Given the description of an element on the screen output the (x, y) to click on. 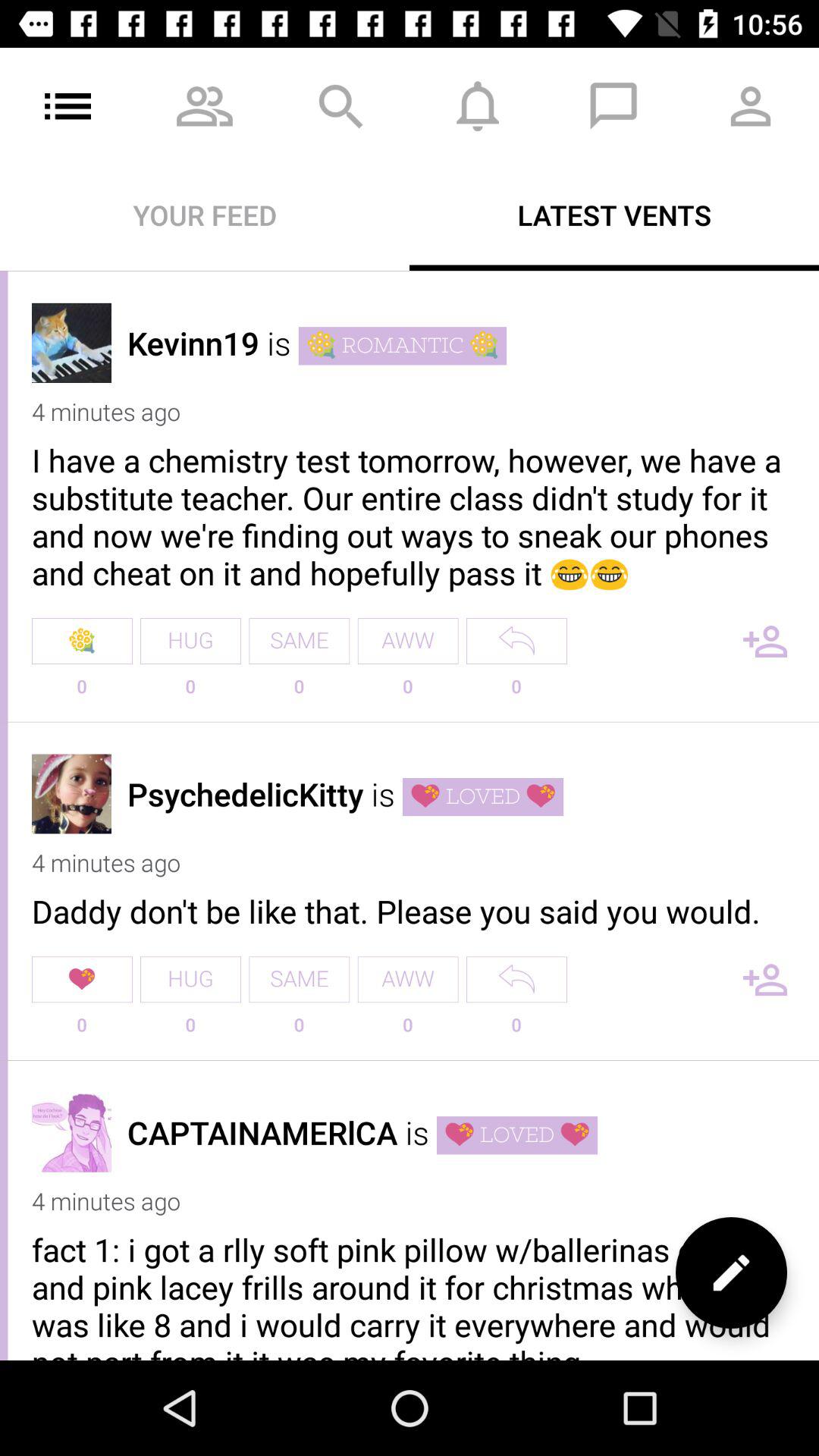
compose message (731, 1272)
